Given the description of an element on the screen output the (x, y) to click on. 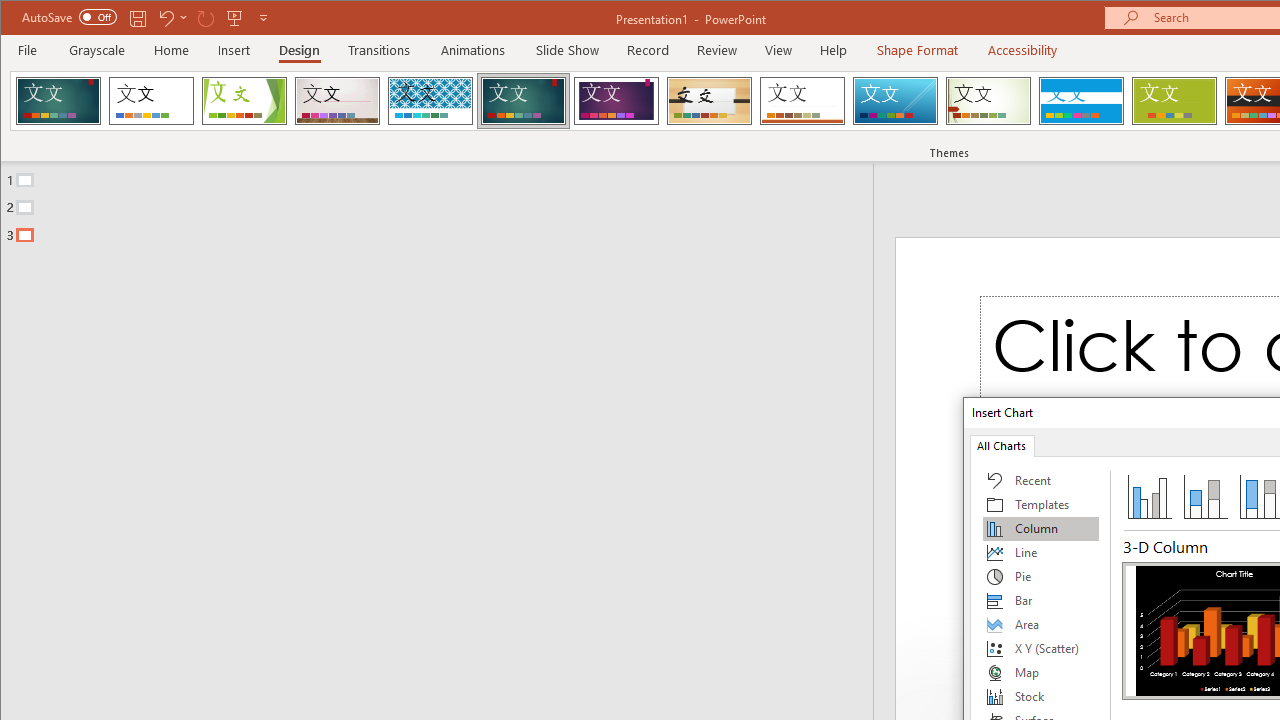
Retrospect (802, 100)
Organic (709, 100)
Bar (1041, 600)
Wisp (988, 100)
Pie (1041, 576)
Area (1041, 624)
Stacked Column (1205, 496)
All Charts (1001, 444)
